Given the description of an element on the screen output the (x, y) to click on. 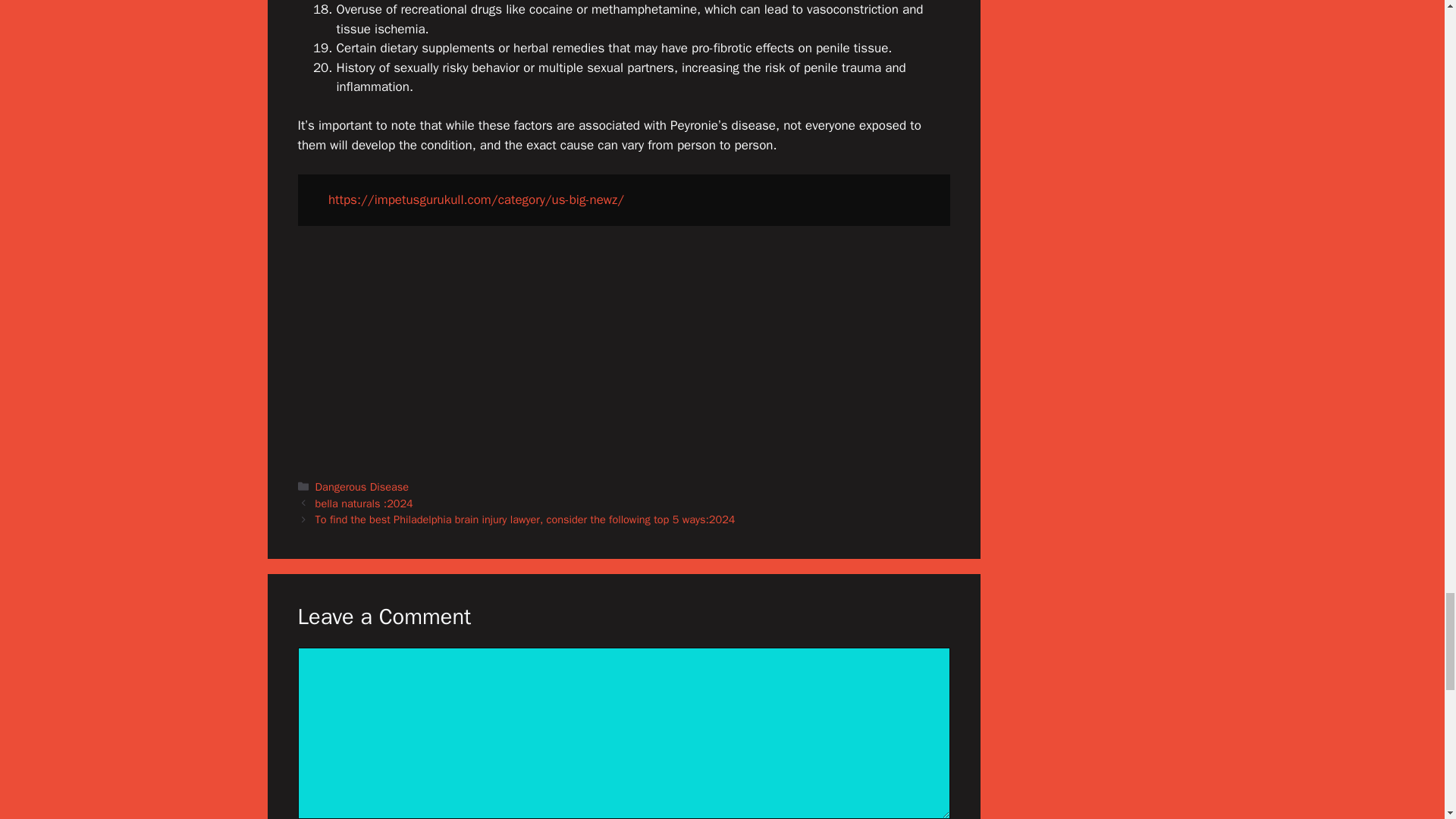
Dangerous Disease (362, 486)
bella naturals :2024 (364, 503)
